Given the description of an element on the screen output the (x, y) to click on. 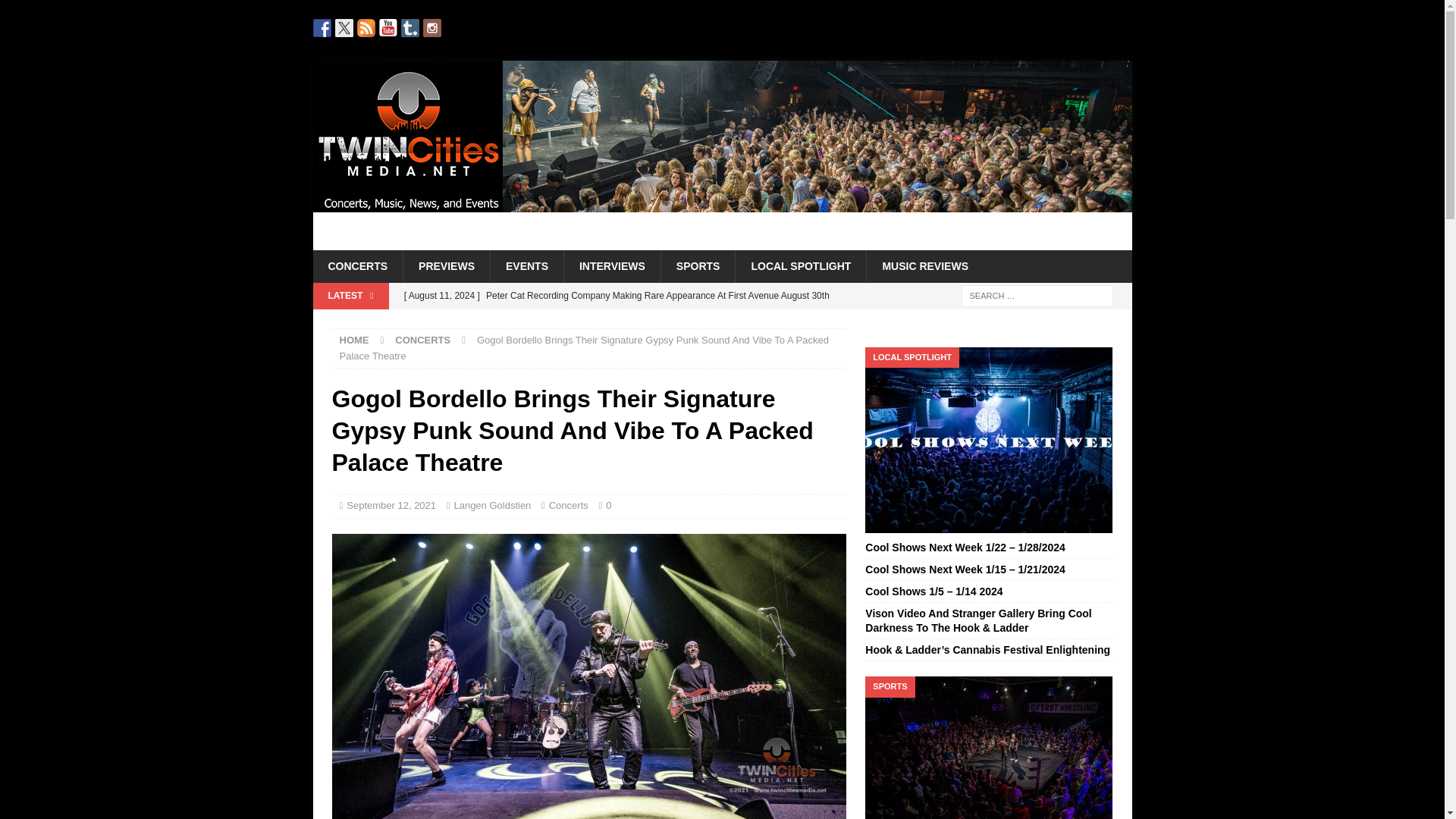
SPORTS (698, 265)
Check out our instagram feed (432, 27)
CONCERTS (421, 339)
Find us on tumblr (409, 27)
PREVIEWS (446, 265)
LOCAL SPOTLIGHT (800, 265)
Follow us on Twitter (343, 27)
Search (56, 11)
TwinCitiesMedia.net (722, 241)
HOME (354, 339)
